Given the description of an element on the screen output the (x, y) to click on. 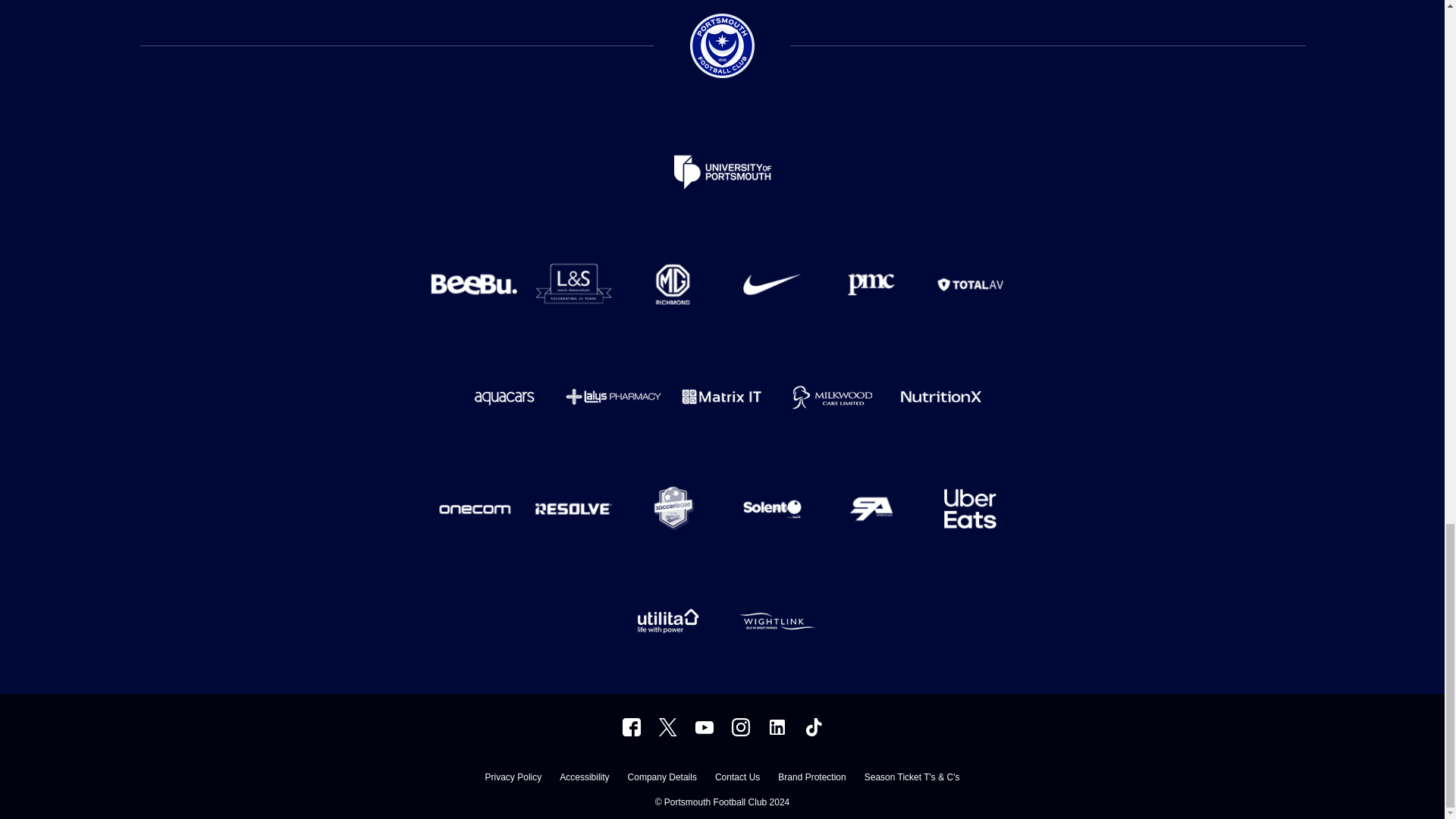
officialpfc (630, 727)
portsmouth-football-club (776, 727)
Accessibility (583, 779)
Contact Us (737, 779)
Brand Protection (811, 779)
Privacy Policy (512, 779)
Company Details (662, 779)
